Given the description of an element on the screen output the (x, y) to click on. 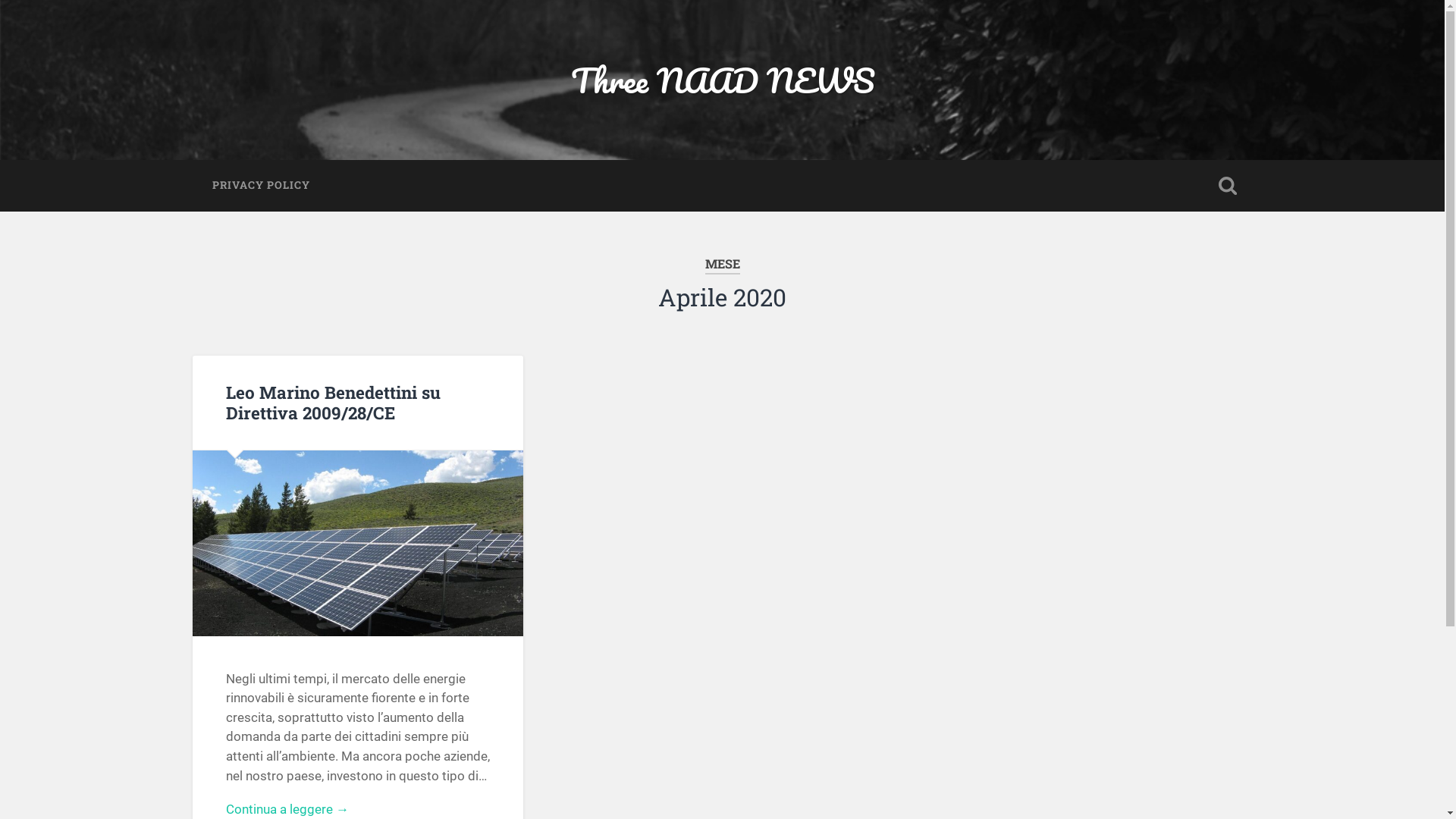
Three NAAD NEWS Element type: text (721, 79)
Leo Marino Benedettini su Direttiva 2009/28/CE Element type: text (332, 401)
PRIVACY POLICY Element type: text (260, 185)
